Given the description of an element on the screen output the (x, y) to click on. 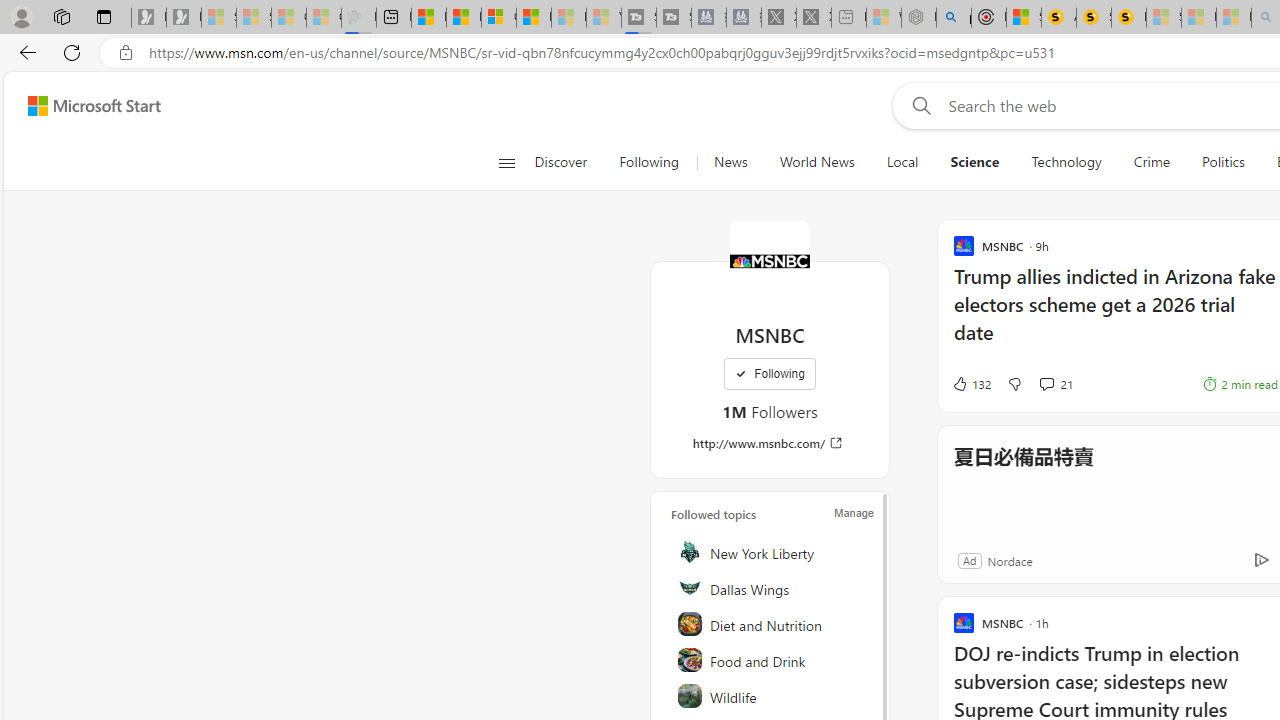
Diet and Nutrition (771, 623)
Newsletter Sign Up - Sleeping (183, 17)
Science (975, 162)
Microsoft Start - Sleeping (568, 17)
Skip to footer (82, 105)
Food and Drink (771, 659)
Technology (1066, 162)
Overview (498, 17)
Politics (1223, 162)
